Given the description of an element on the screen output the (x, y) to click on. 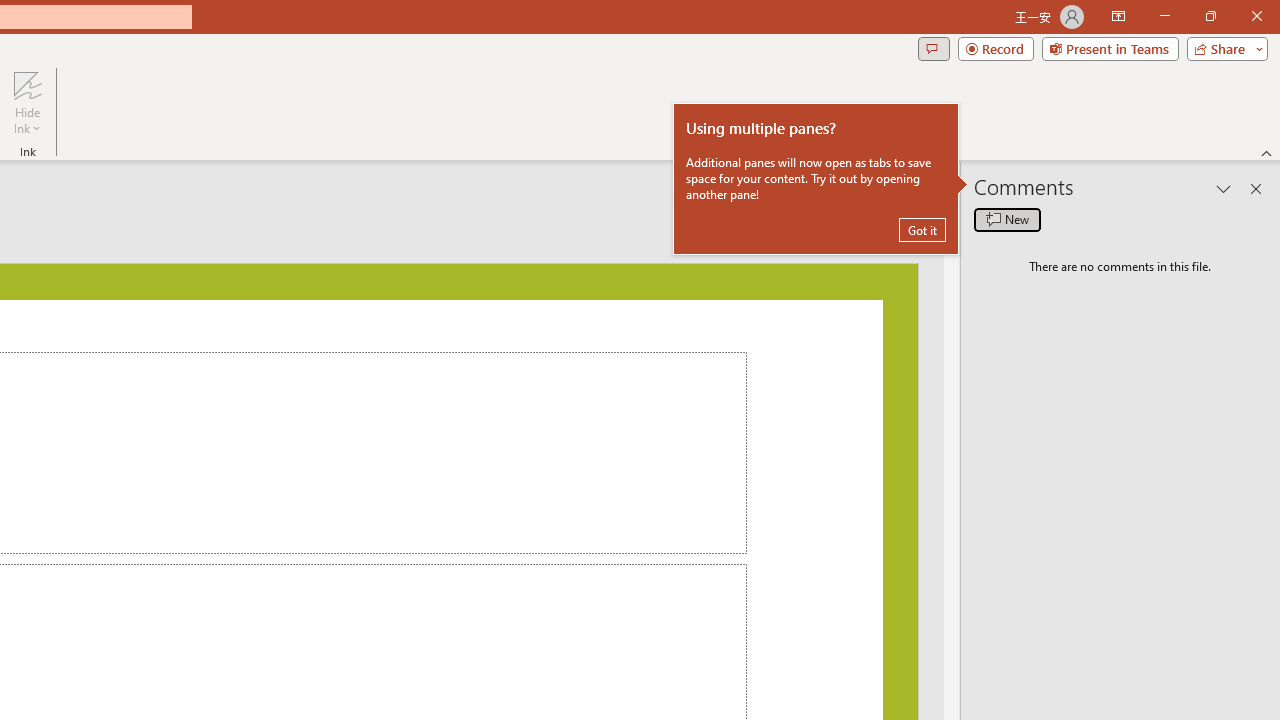
Got it (921, 229)
New comment (1007, 219)
